Given the description of an element on the screen output the (x, y) to click on. 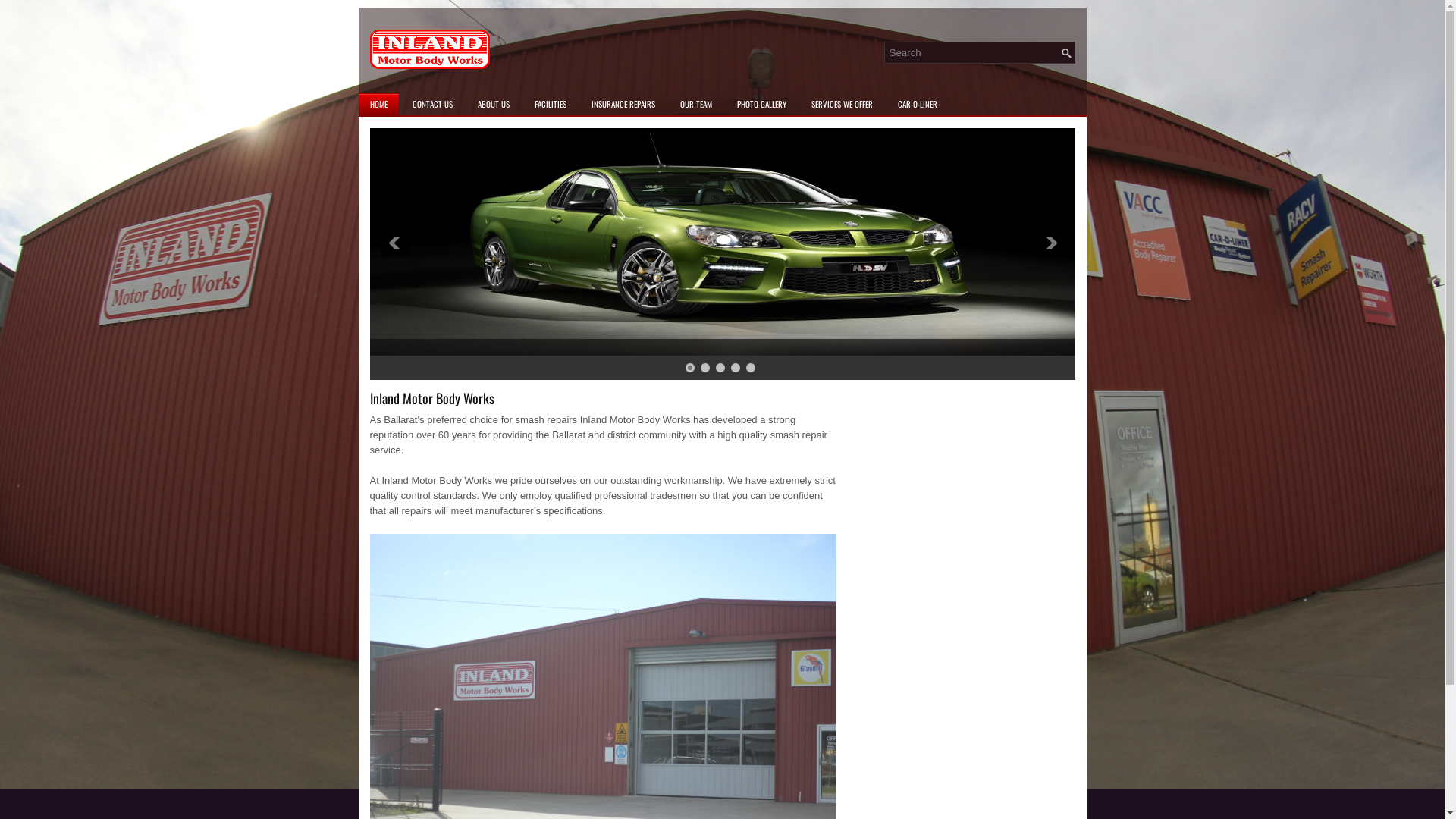
HOME Element type: text (377, 103)
INSURANCE REPAIRS Element type: text (622, 103)
OUR TEAM Element type: text (695, 103)
Inland Motor Body works Element type: hover (429, 49)
CAR-O-LINER Element type: text (916, 103)
SERVICES WE OFFER Element type: text (841, 103)
PHOTO GALLERY Element type: text (760, 103)
ABOUT US Element type: text (492, 103)
1 Element type: text (689, 367)
5 Element type: text (750, 367)
2 Element type: text (704, 367)
FACILITIES Element type: text (550, 103)
CONTACT US Element type: text (431, 103)
4 Element type: text (735, 367)
Type and hit enter Element type: hover (979, 52)
3 Element type: text (719, 367)
